Given the description of an element on the screen output the (x, y) to click on. 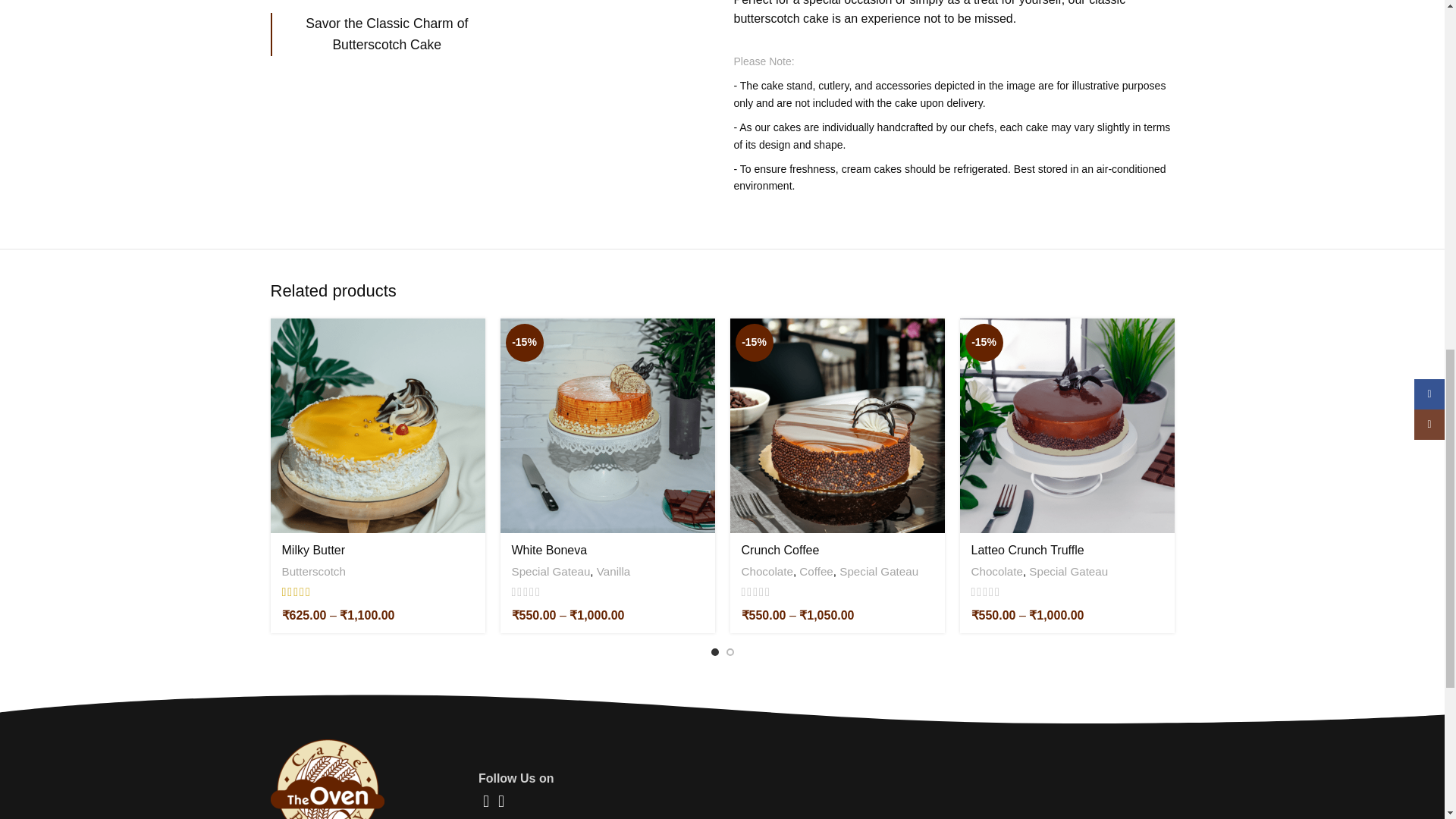
Milky Butter (314, 549)
White Boneva (548, 549)
Special Gateau (550, 571)
Butterscotch (314, 571)
Vanilla (613, 571)
